Given the description of an element on the screen output the (x, y) to click on. 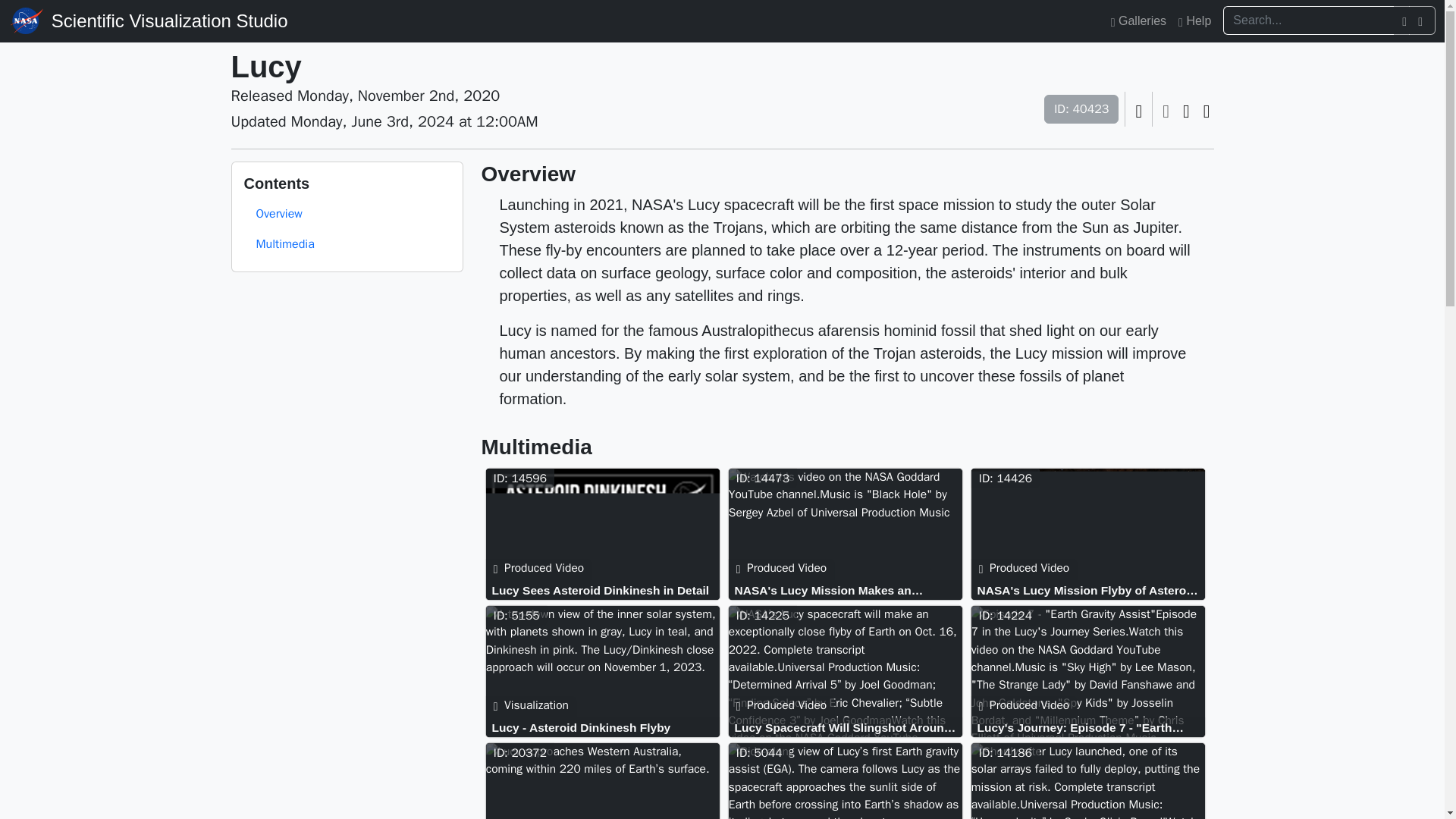
Go to this page (606, 727)
Go to this page (605, 536)
Go to this page (848, 536)
Go to this page (606, 590)
Search! (1422, 20)
Lucy's Journey: Episode 7 - "Earth Gravity Assist" (1090, 727)
Go to this page (1091, 674)
Go to this page (847, 590)
Lucy Sees Asteroid Dinkinesh in Detail (606, 590)
